Given the description of an element on the screen output the (x, y) to click on. 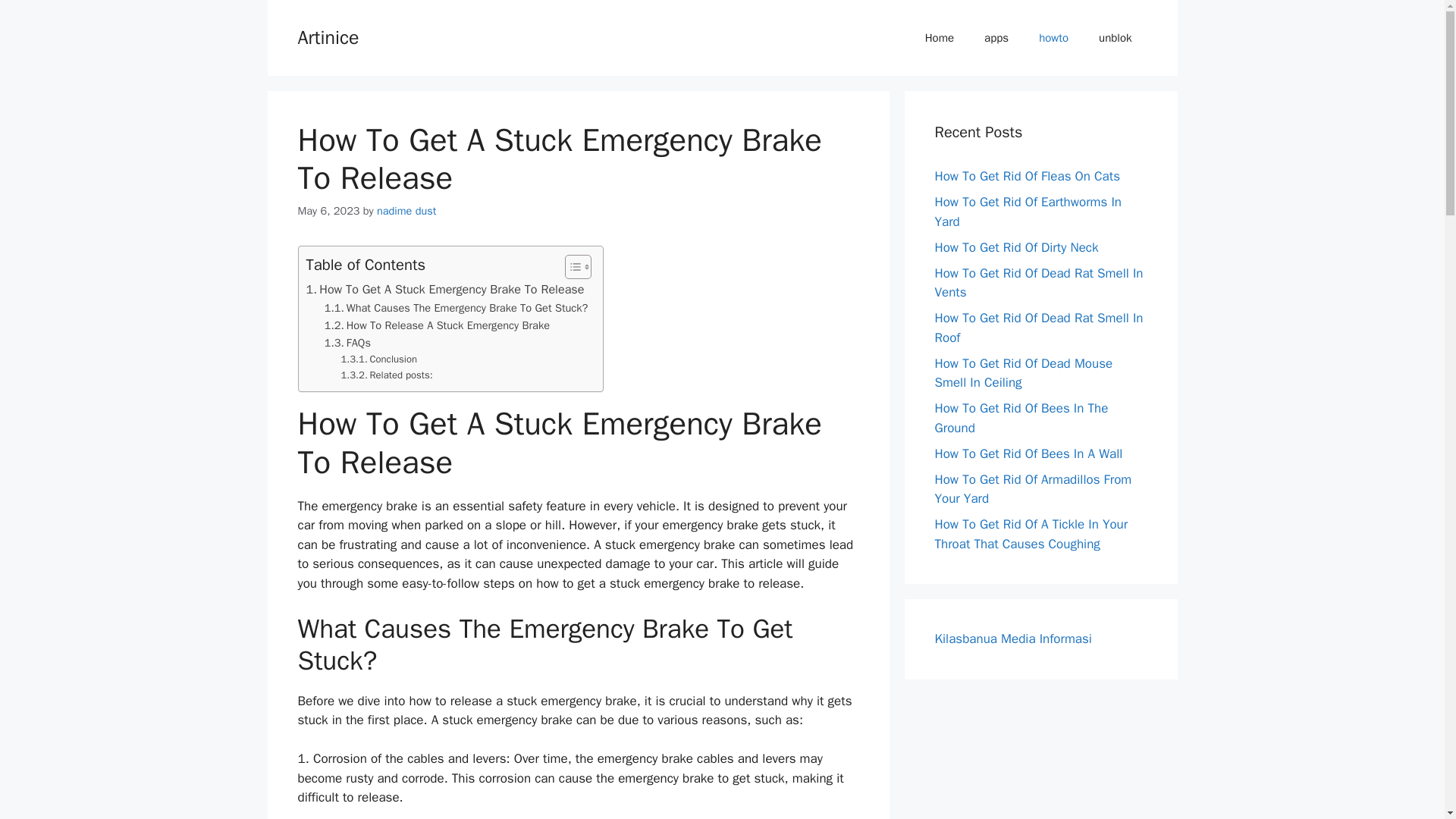
Kilasbanua Media Informasi (1012, 638)
How To Get Rid Of Dead Rat Smell In Vents (1038, 283)
How To Get Rid Of Dirty Neck (1015, 247)
Home (939, 37)
How To Get A Stuck Emergency Brake To Release (445, 289)
How To Get Rid Of Bees In The Ground (1021, 417)
What Causes The Emergency Brake To Get Stuck? (456, 307)
unblok (1115, 37)
How To Get A Stuck Emergency Brake To Release (445, 289)
Artinice (327, 37)
How To Get Rid Of Armadillos From Your Yard (1032, 488)
How To Get Rid Of Dead Mouse Smell In Ceiling (1023, 372)
How To Get Rid Of Earthworms In Yard (1027, 212)
How To Get Rid Of Bees In A Wall (1028, 453)
